Given the description of an element on the screen output the (x, y) to click on. 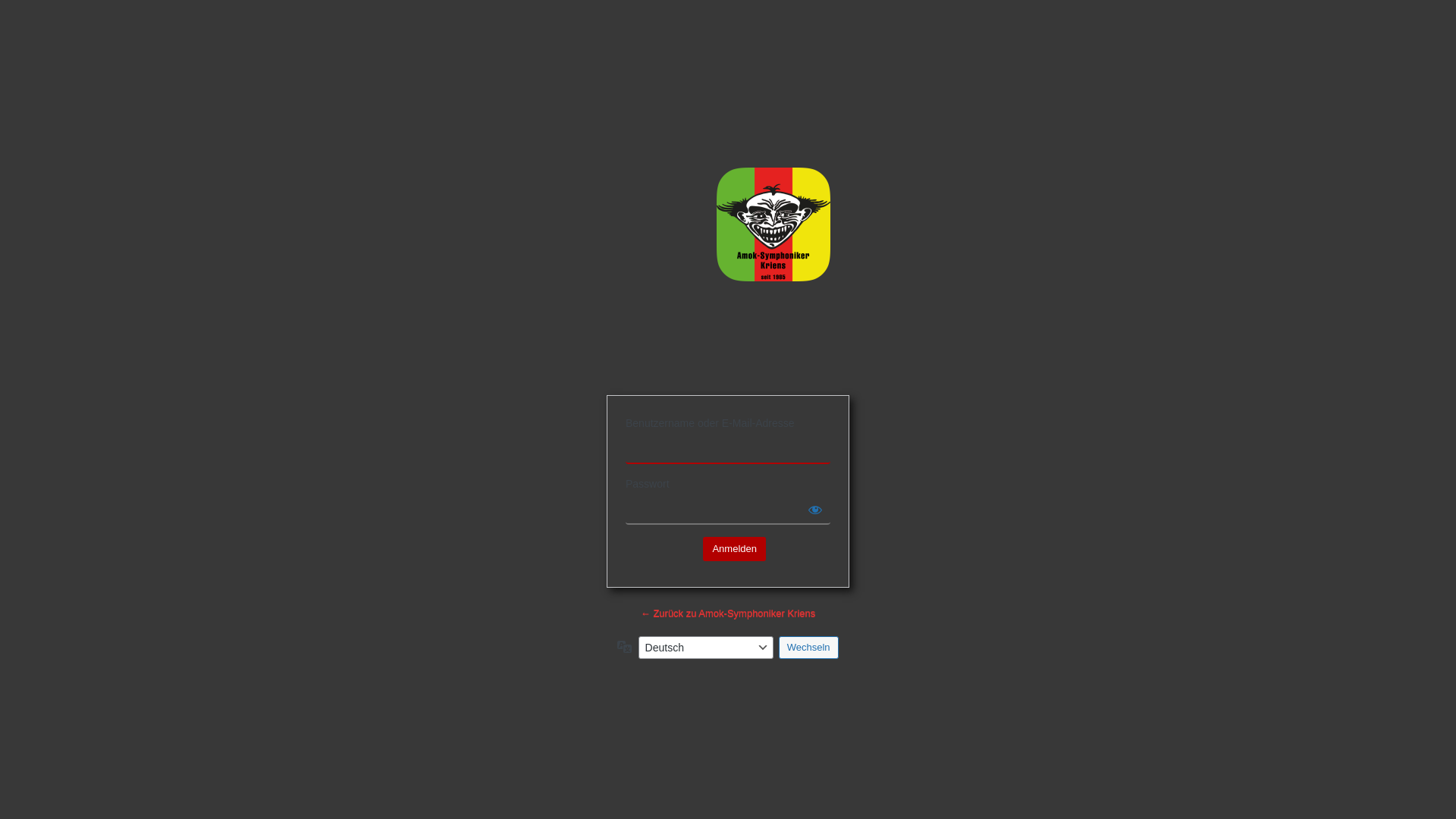
Wechseln Element type: text (808, 646)
Anmelden Element type: text (733, 548)
